Given the description of an element on the screen output the (x, y) to click on. 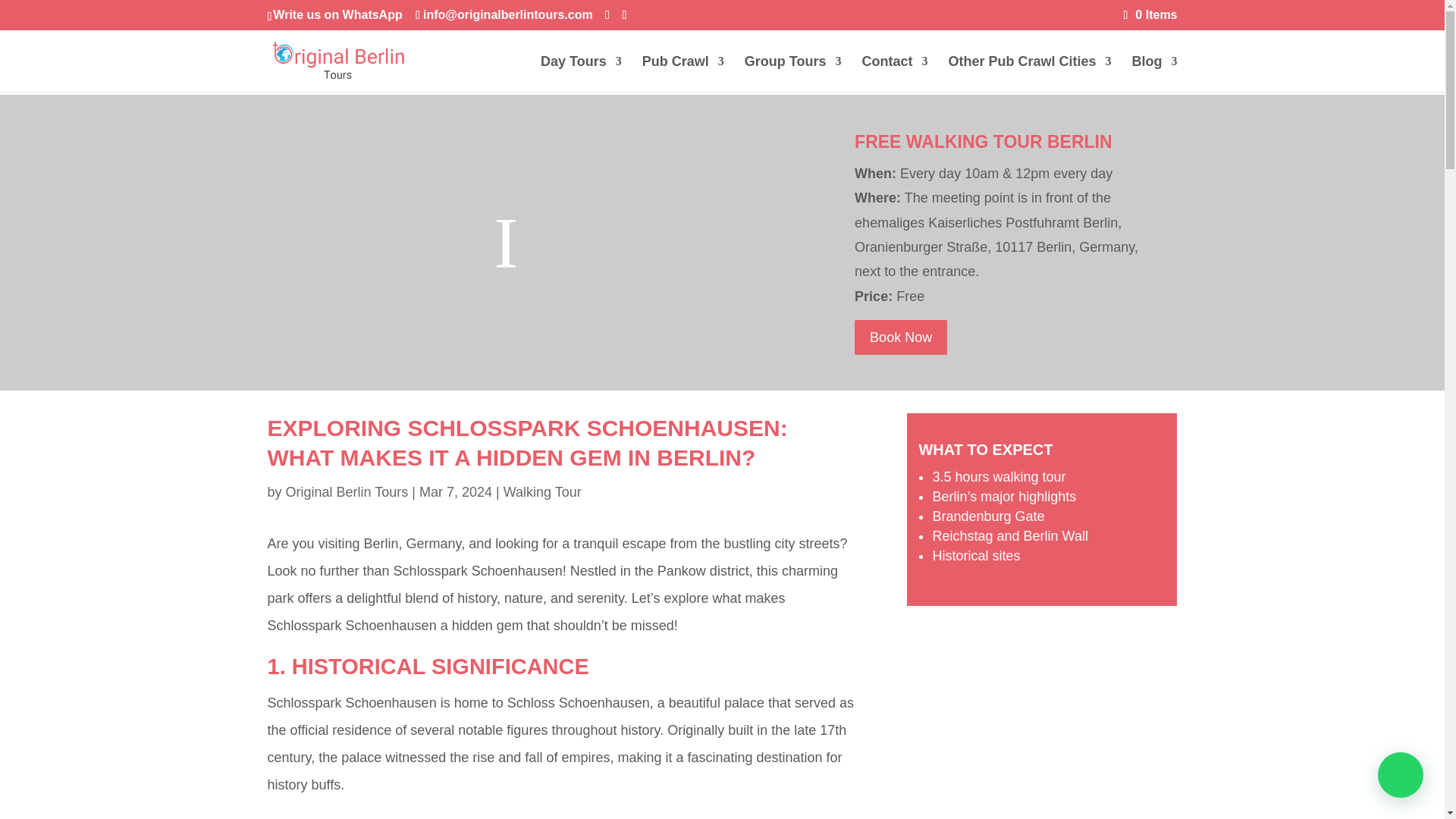
Posts by Original Berlin Tours (347, 491)
Contact (894, 73)
Write us on WhatsApp (337, 14)
Day Tours (580, 73)
Group Tours (792, 73)
0 Items (1150, 14)
Pub Crawl (682, 73)
